Given the description of an element on the screen output the (x, y) to click on. 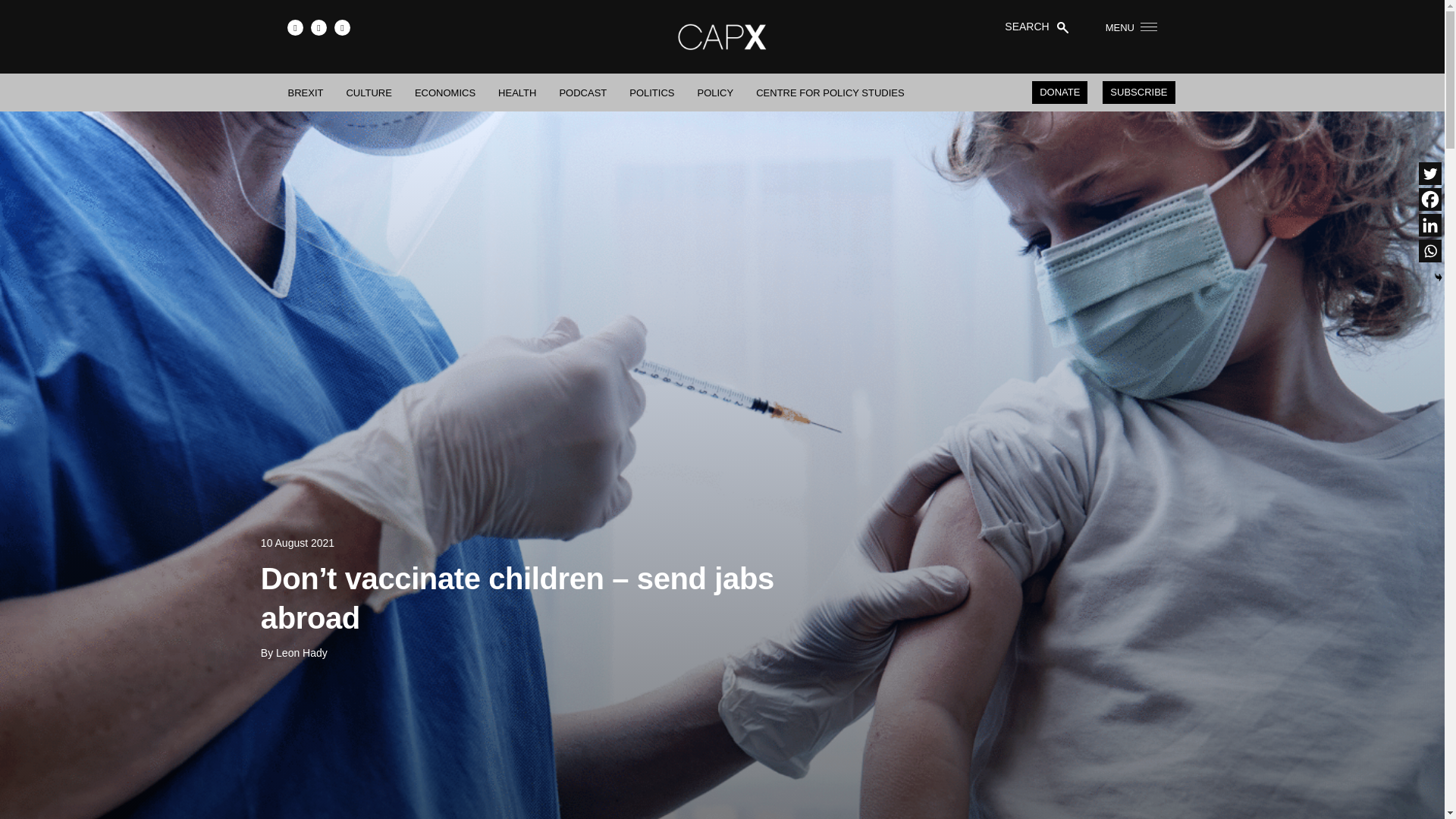
POLICY (715, 92)
Linkedin (1429, 224)
HEALTH (516, 92)
Whatsapp (1429, 250)
MENU (1125, 27)
DONATE (1059, 92)
PODCAST (582, 92)
BREXIT (306, 92)
CULTURE (367, 92)
Twitter (1429, 173)
SUBSCRIBE (1138, 92)
ECONOMICS (445, 92)
POLITICS (651, 92)
Facebook (1429, 199)
CENTRE FOR POLICY STUDIES (830, 92)
